Given the description of an element on the screen output the (x, y) to click on. 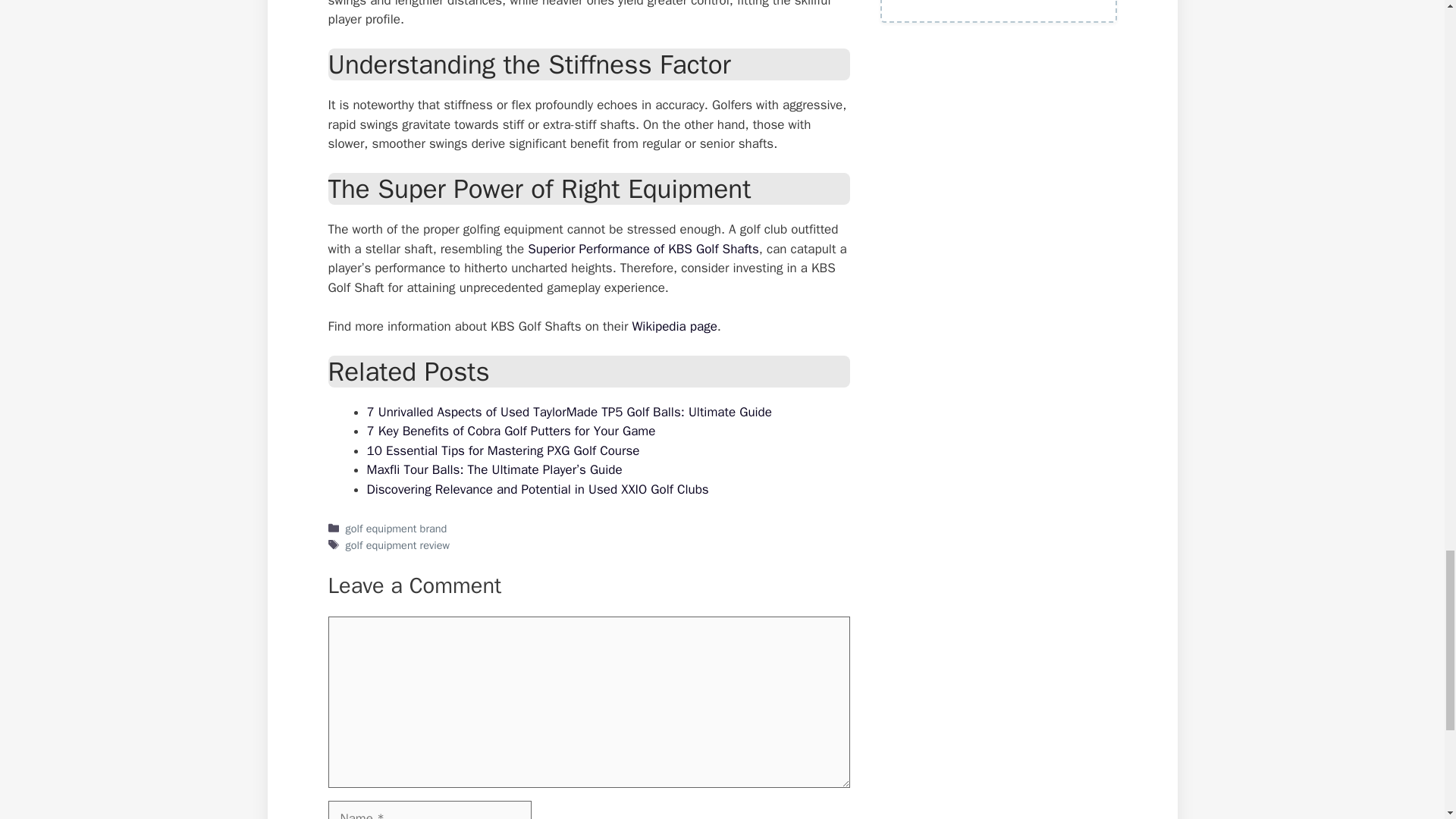
golf equipment review (397, 545)
7 Key Benefits of Cobra Golf Putters for Your Game (511, 430)
Wikipedia page (673, 326)
golf equipment brand (396, 528)
Discovering Relevance and Potential in Used XXIO Golf Clubs (537, 489)
10 Essential Tips for Mastering PXG Golf Course (503, 450)
Superior Performance of KBS Golf Shafts (641, 248)
